Given the description of an element on the screen output the (x, y) to click on. 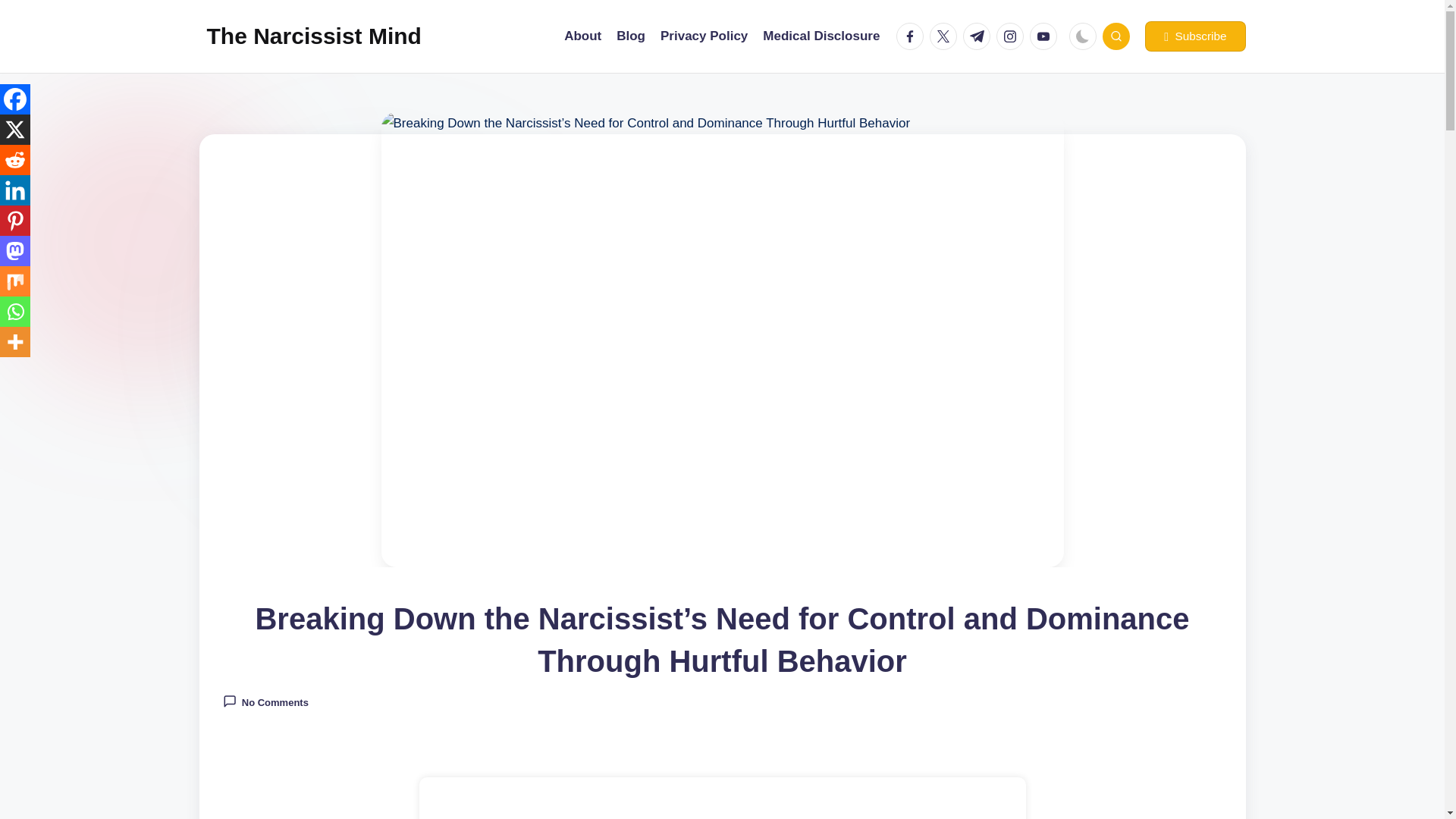
Facebook (15, 99)
The Narcissist Mind (313, 36)
X (15, 129)
Medical Disclosure (820, 36)
twitter.com (946, 35)
Blog (630, 36)
No Comments (265, 701)
instagram.com (1012, 35)
Privacy Policy (704, 36)
About (582, 36)
